Given the description of an element on the screen output the (x, y) to click on. 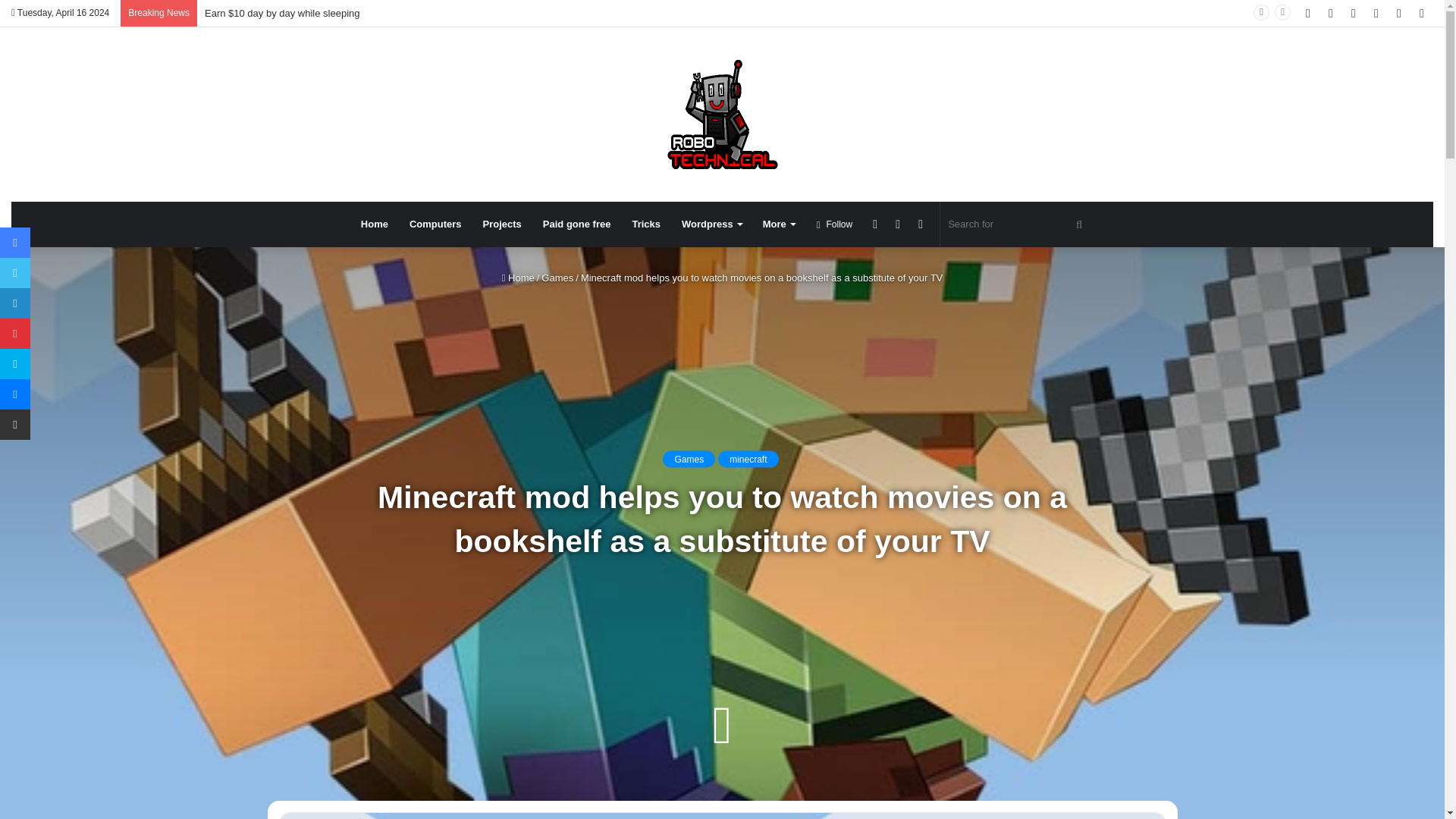
Twitter (1330, 13)
Random Article (1398, 13)
Wordpress (711, 224)
Games (688, 459)
Sidebar (897, 224)
Random Article (874, 224)
Switch skin (919, 224)
YouTube (1353, 13)
Sidebar (1421, 13)
Games (557, 277)
Instagram (1376, 13)
Facebook (1308, 13)
Random Article (1398, 13)
Computers (434, 224)
